Given the description of an element on the screen output the (x, y) to click on. 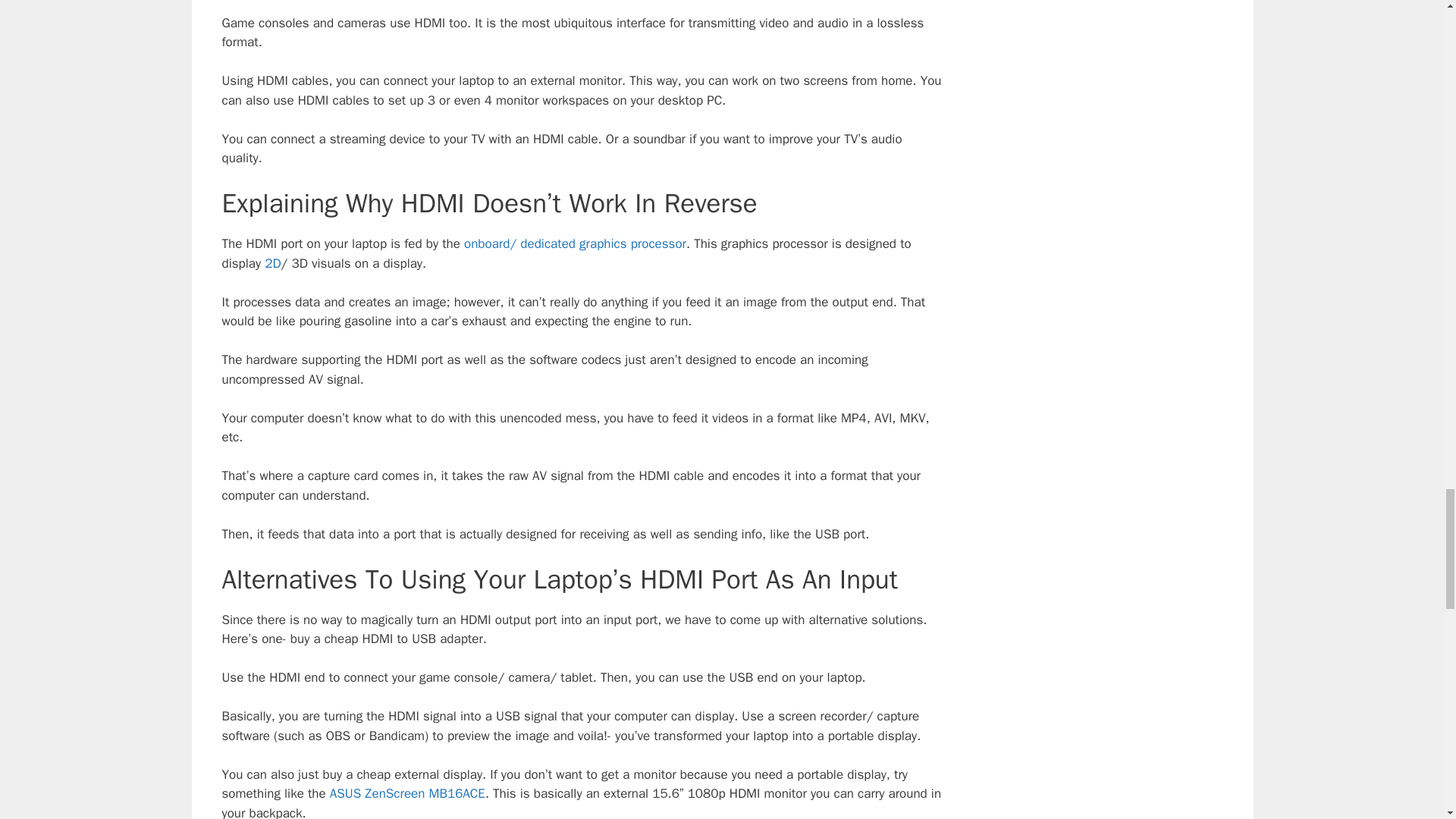
2D (272, 263)
ASUS ZenScreen MB16ACE (407, 793)
